Given the description of an element on the screen output the (x, y) to click on. 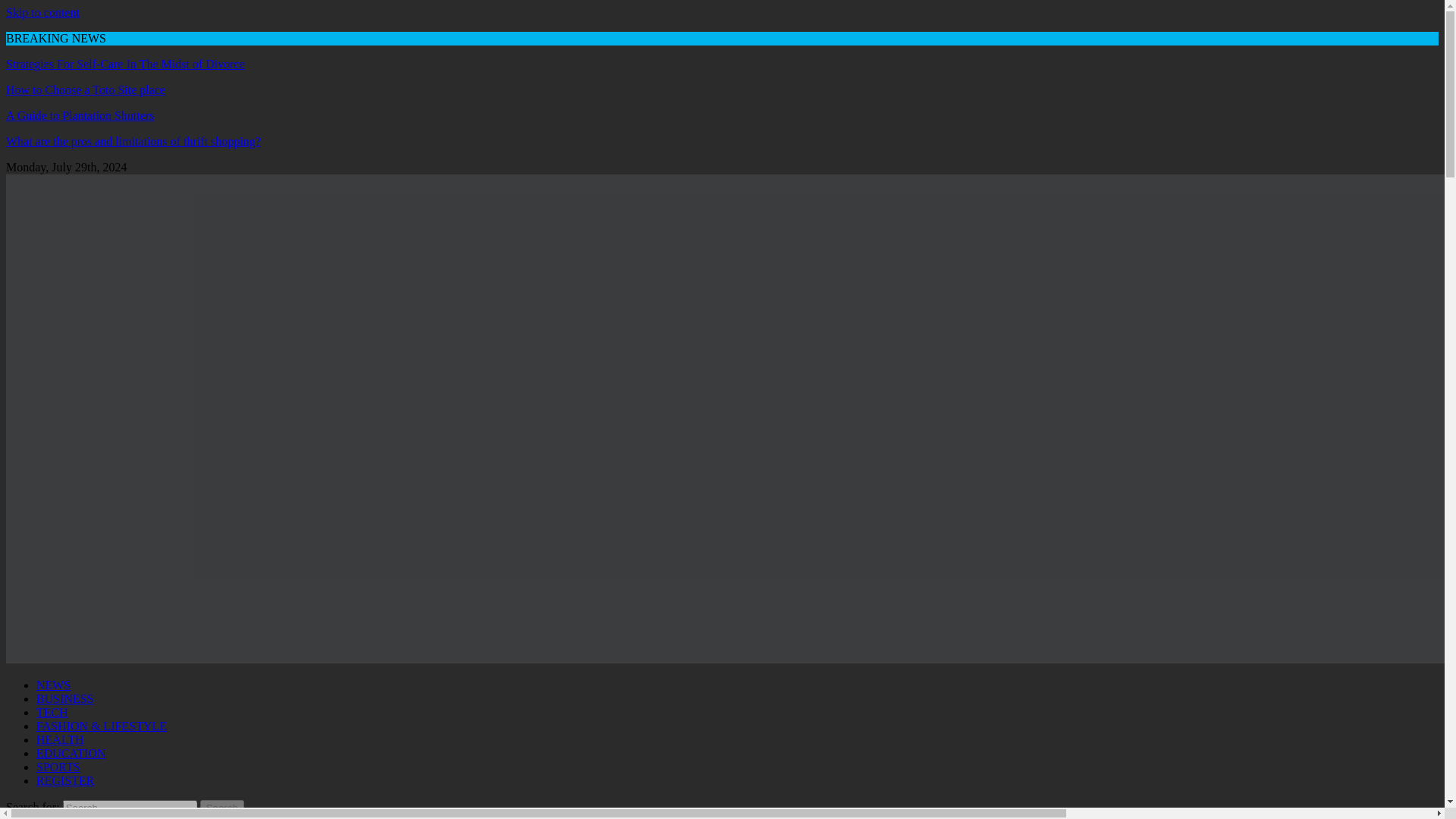
TECH (52, 712)
EDUCATION (71, 753)
Search (222, 807)
Skip to content (42, 11)
HEALTH (60, 739)
REGISTER (65, 780)
Search (222, 807)
NEWS (52, 684)
SPORTS (58, 766)
Search (222, 807)
BUSINESS (65, 698)
